Given the description of an element on the screen output the (x, y) to click on. 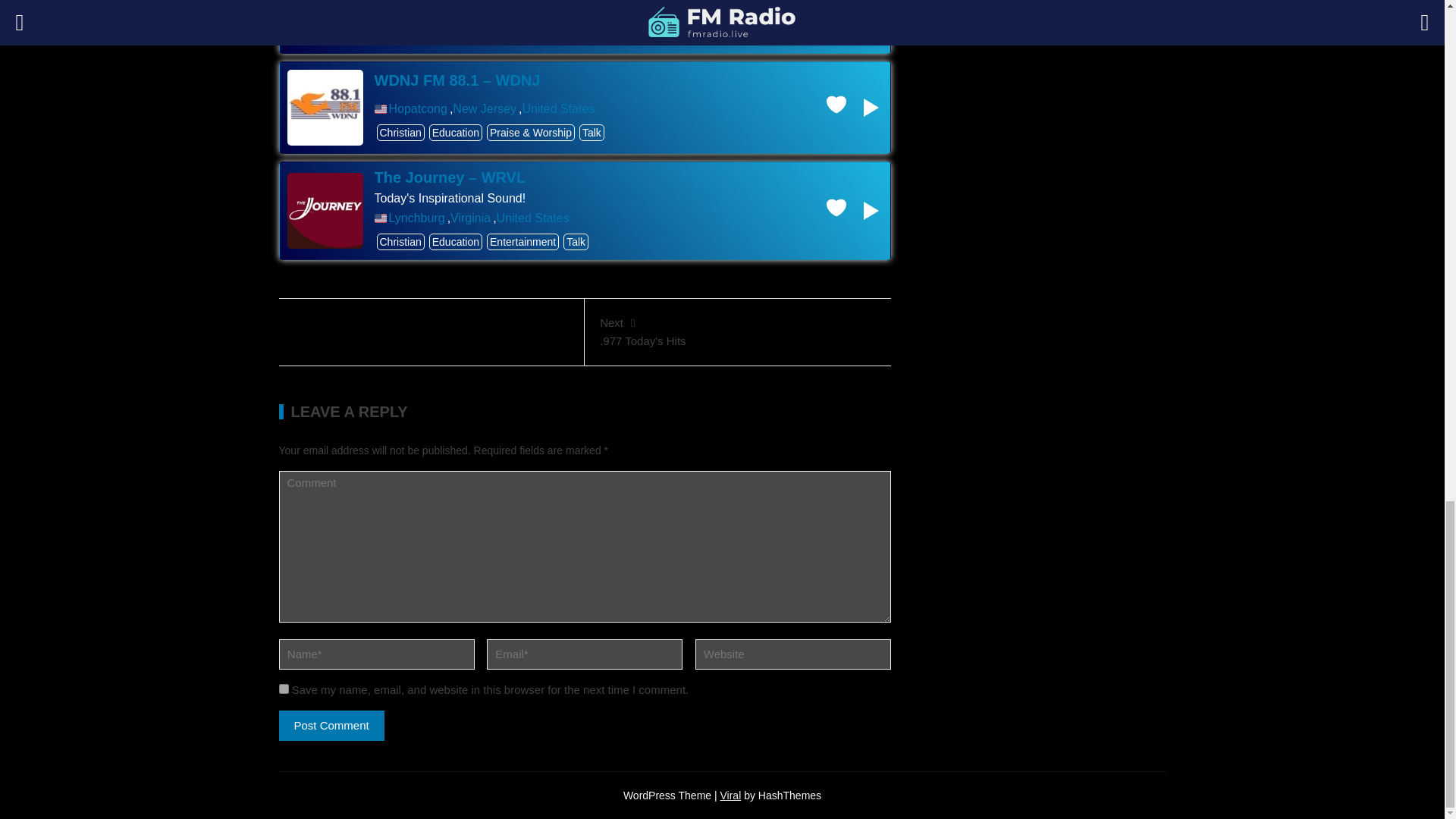
Download Viral (730, 795)
yes (283, 688)
Post Comment (331, 725)
